Given the description of an element on the screen output the (x, y) to click on. 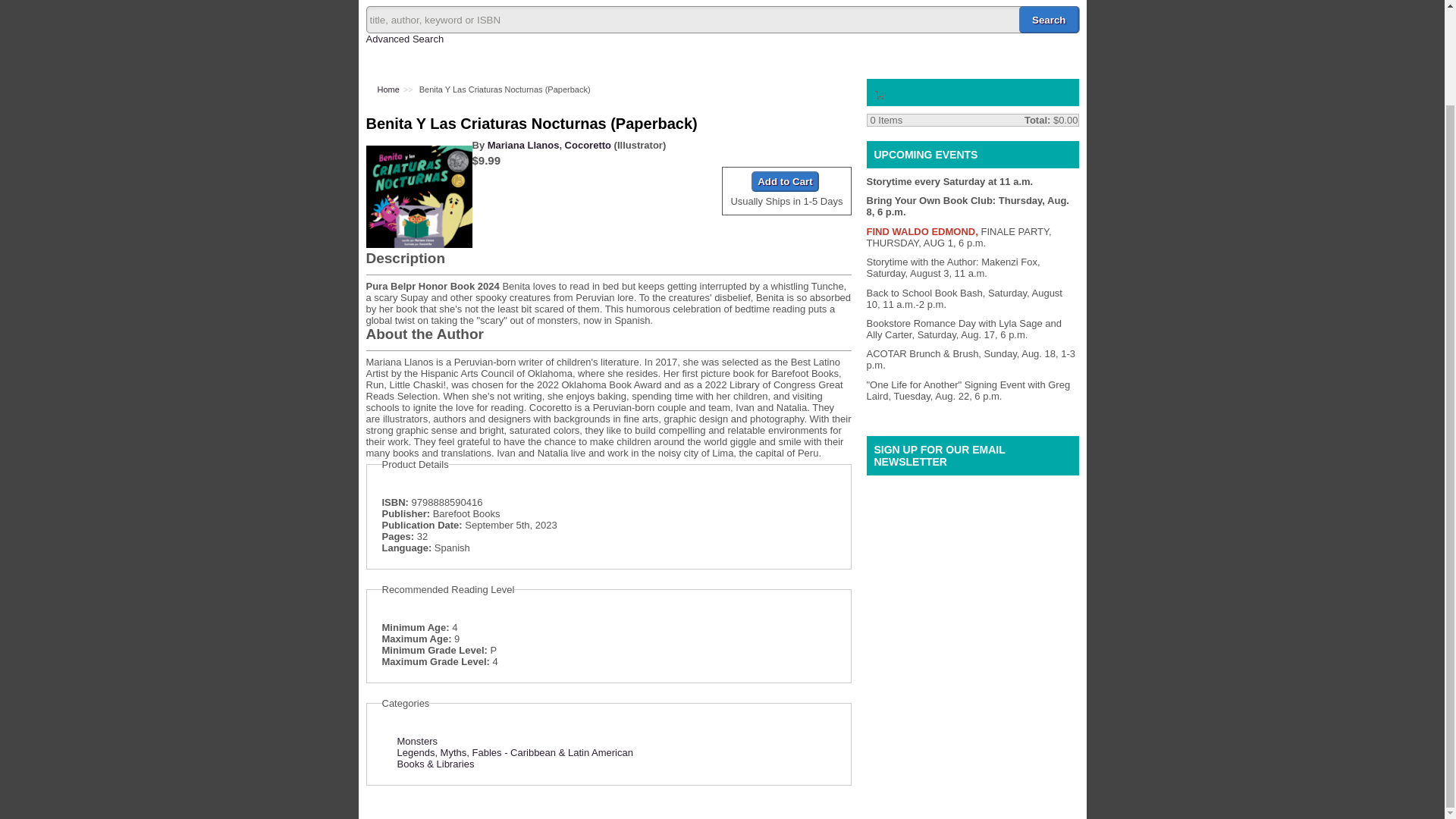
Search (1048, 19)
View your shopping cart. (879, 92)
Advanced Search (404, 39)
Enter the terms you wish to search for. (721, 19)
Add to Cart (784, 180)
Search (1048, 19)
